Given the description of an element on the screen output the (x, y) to click on. 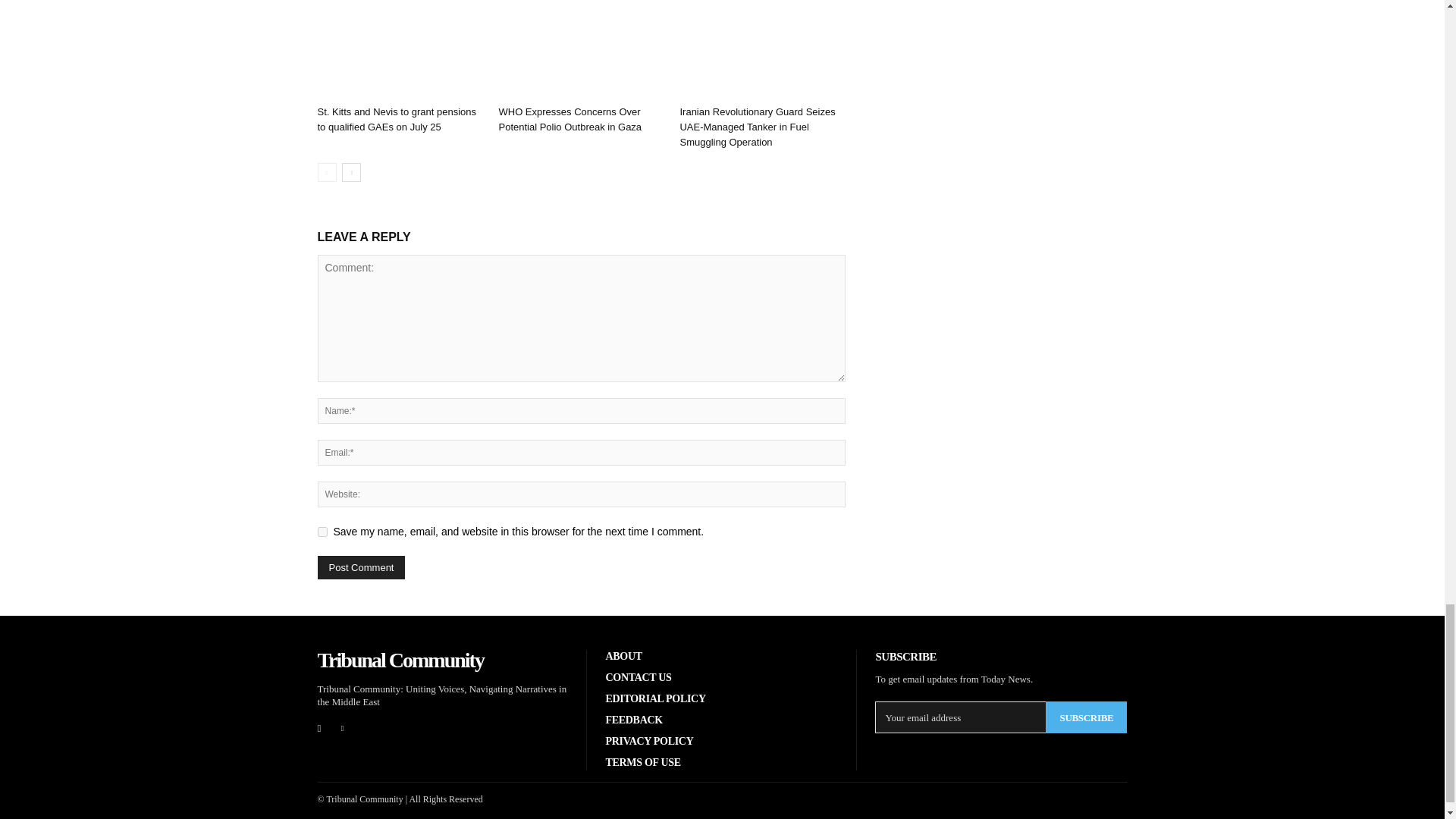
yes (321, 532)
Post Comment (360, 567)
